Given the description of an element on the screen output the (x, y) to click on. 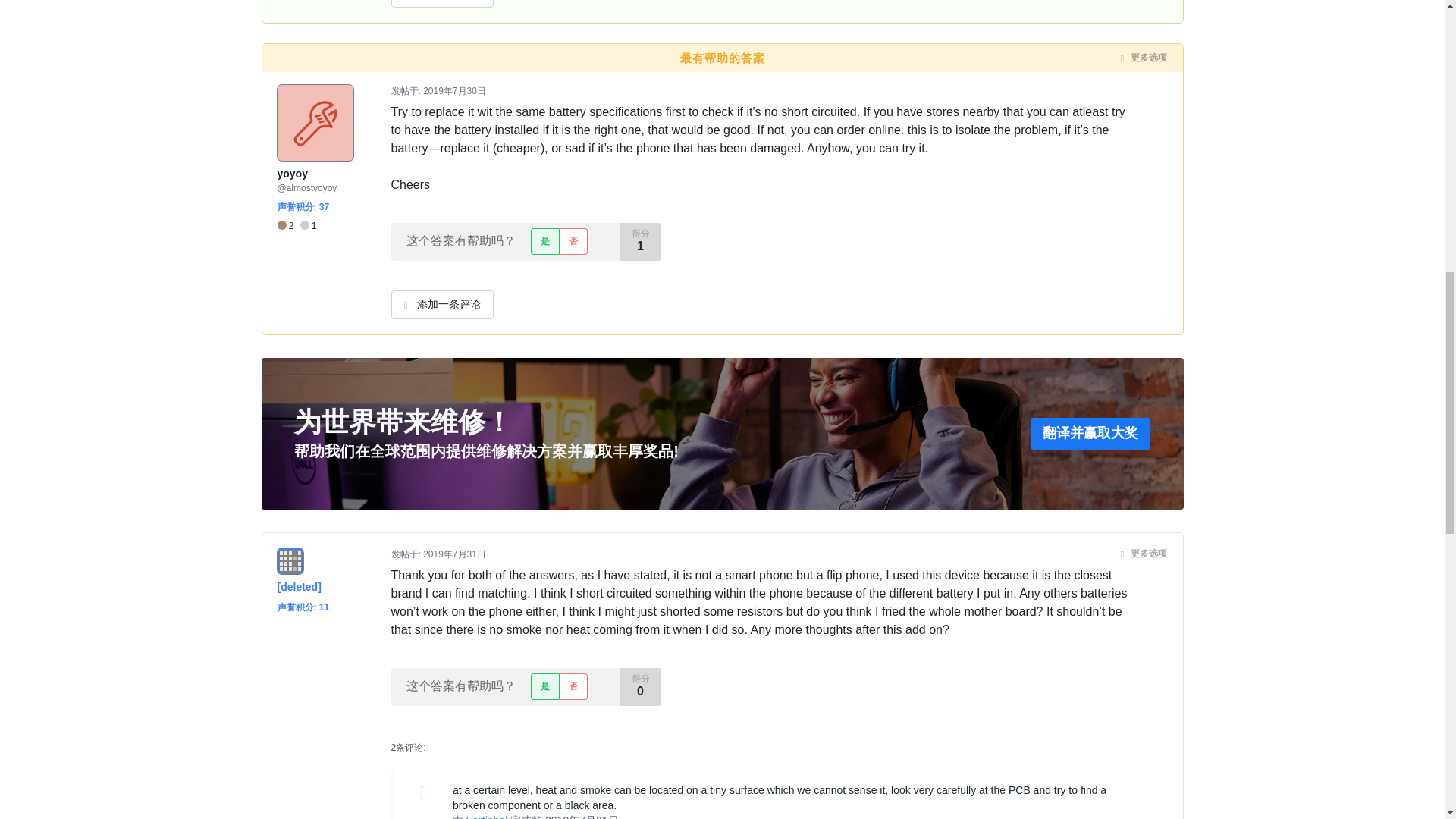
Tue, 30 Jul 2019 20:21:45 -0700 (454, 90)
Wed, 31 Jul 2019 11:49:19 -0700 (581, 816)
Wed, 31 Jul 2019 10:44:11 -0700 (454, 553)
